Given the description of an element on the screen output the (x, y) to click on. 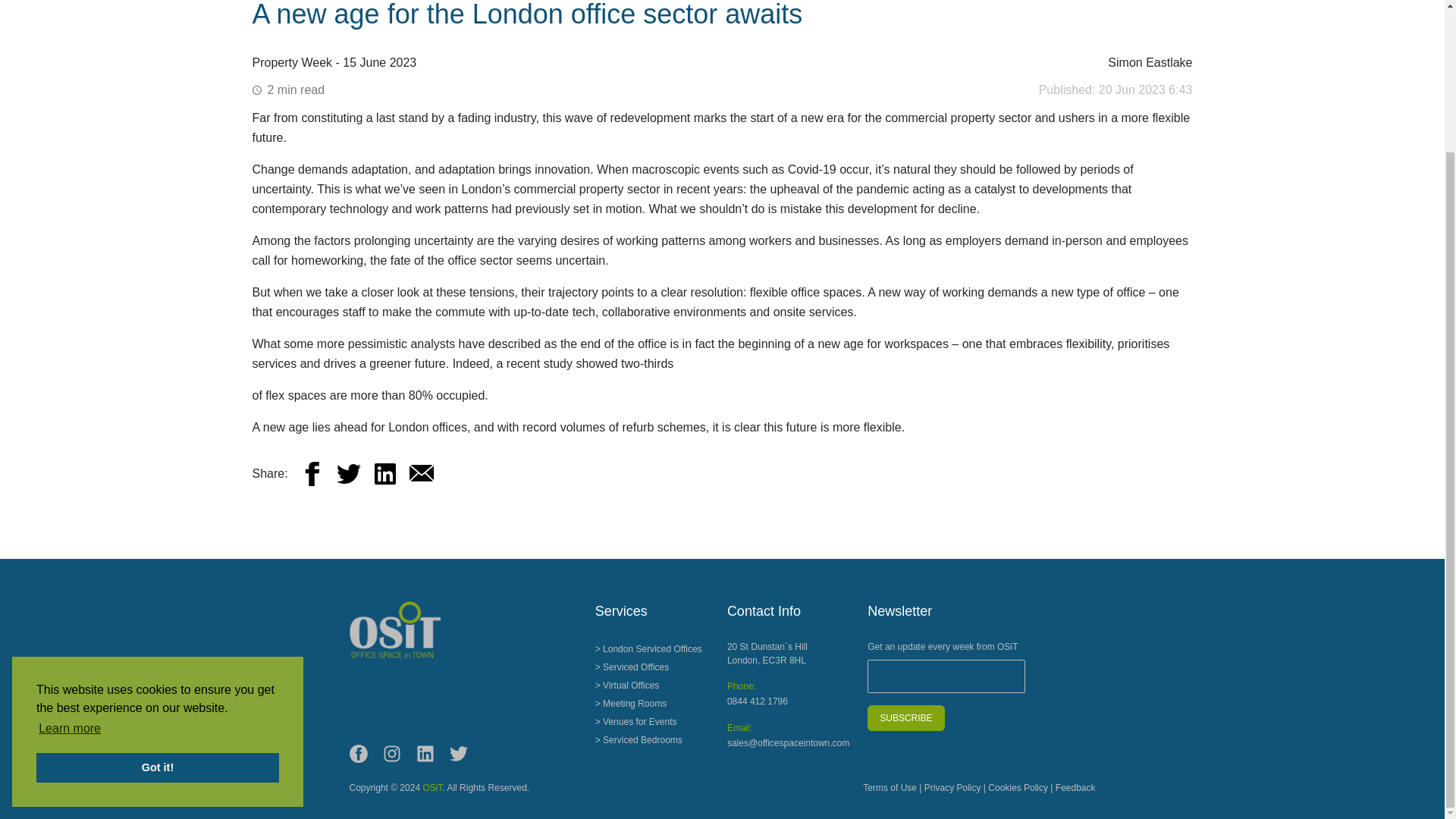
Learn more (69, 552)
Got it! (157, 591)
